Given the description of an element on the screen output the (x, y) to click on. 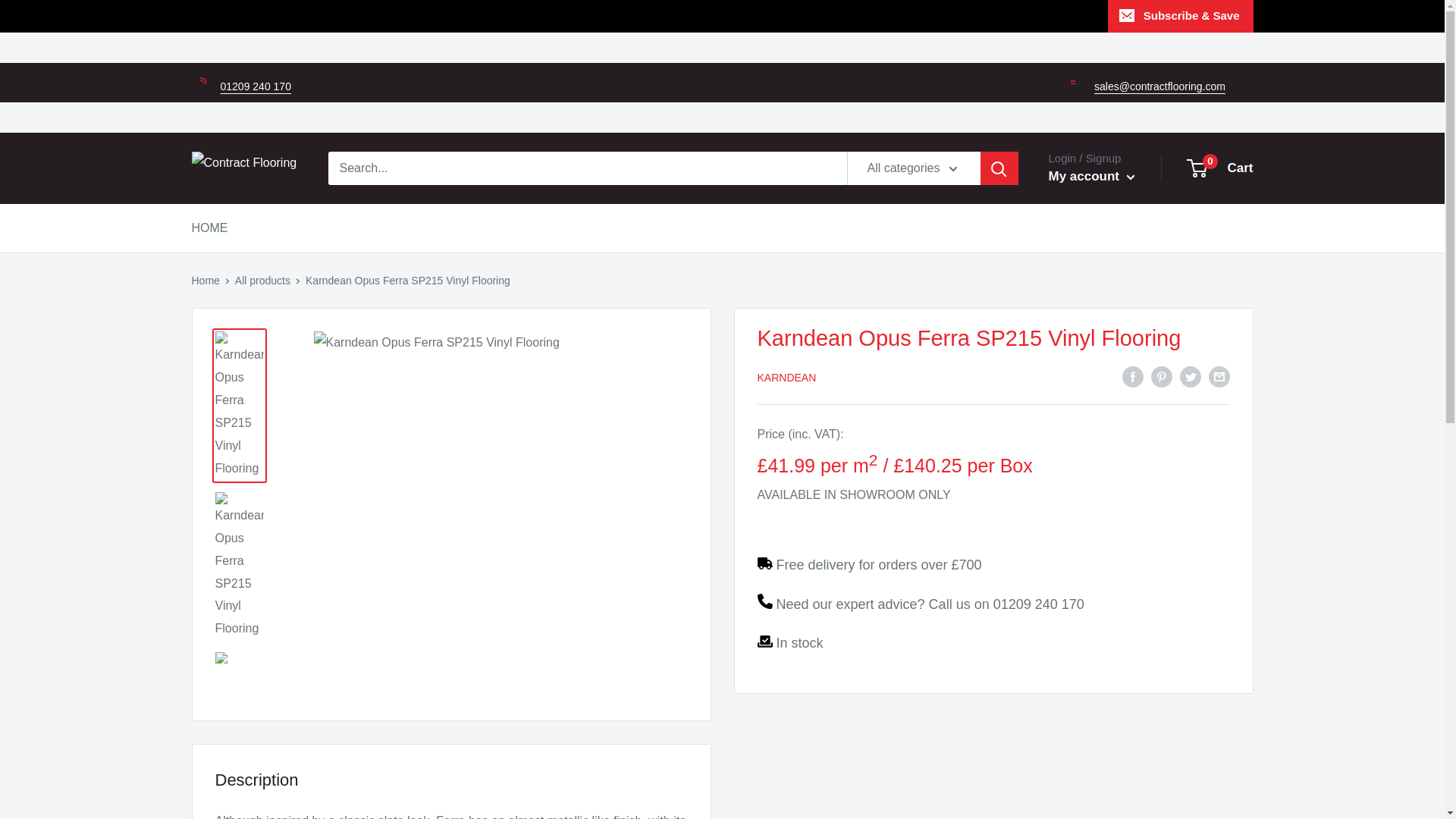
All products (261, 280)
My account (1091, 176)
HOME (208, 228)
Home (204, 280)
01209 240 170 (254, 86)
01209 240 170 (1038, 604)
tel:01209 240 170 (254, 86)
Contract Flooring (243, 168)
KARNDEAN (786, 377)
